Given the description of an element on the screen output the (x, y) to click on. 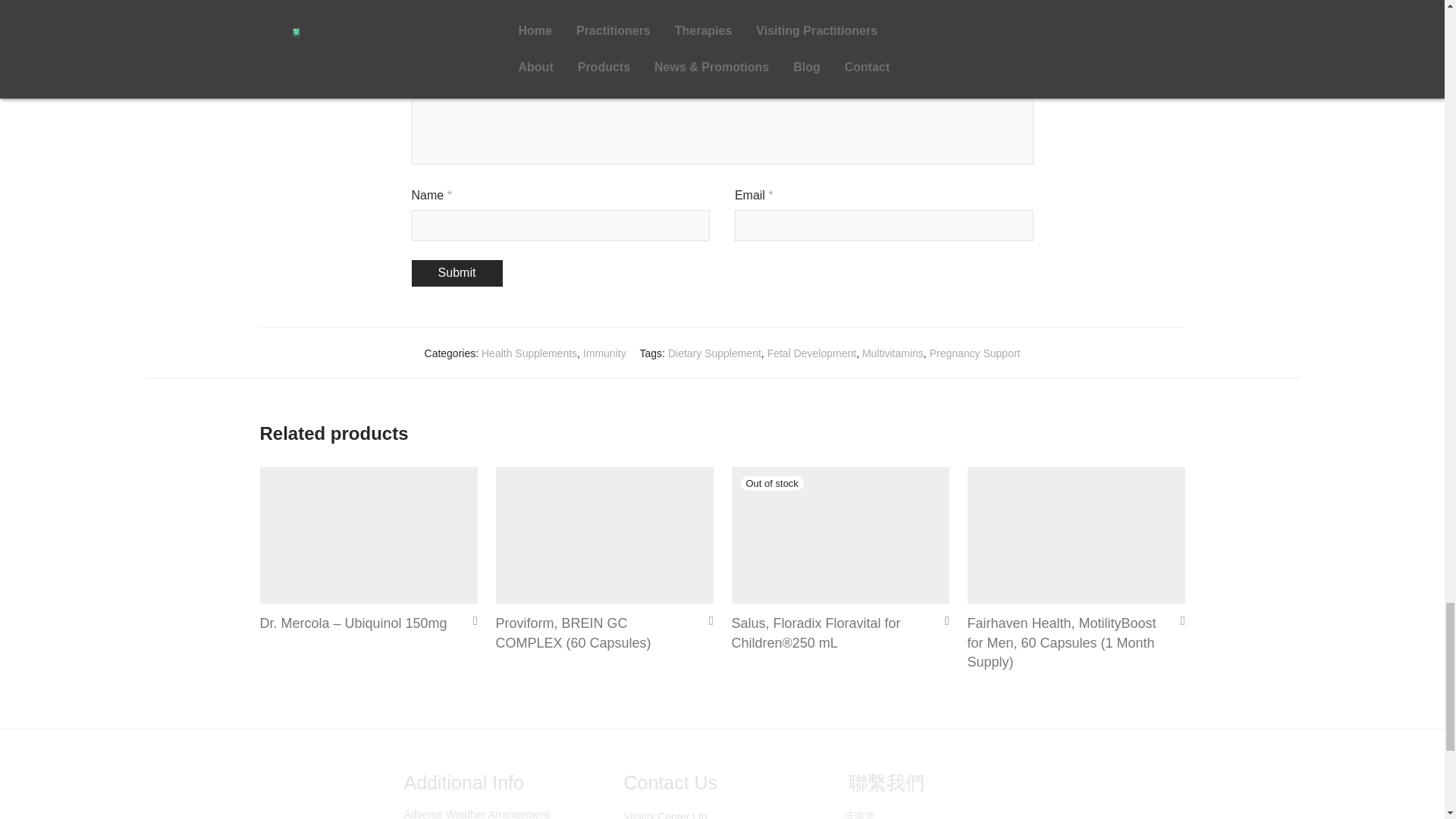
Submit (456, 273)
Add to Wishlist (941, 620)
Add to Wishlist (705, 620)
Add to Wishlist (1177, 620)
Add to Wishlist (470, 620)
